Given the description of an element on the screen output the (x, y) to click on. 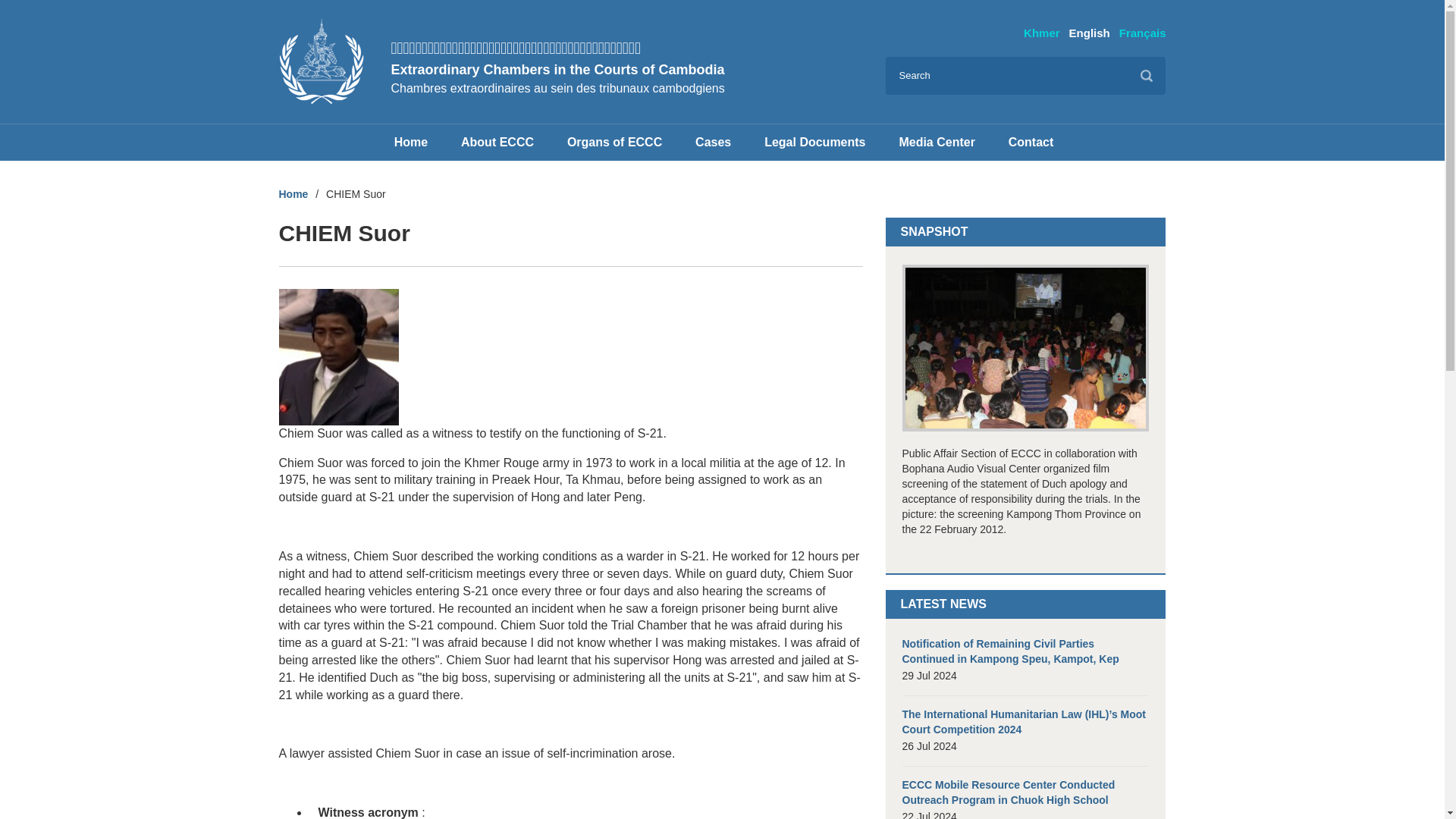
Khmer (1041, 32)
Search (1146, 75)
English (1088, 32)
About ECCC (497, 142)
Cases (713, 142)
Organs of ECCC (614, 142)
Legal Documents (815, 142)
ECC (322, 61)
Home (410, 142)
